Given the description of an element on the screen output the (x, y) to click on. 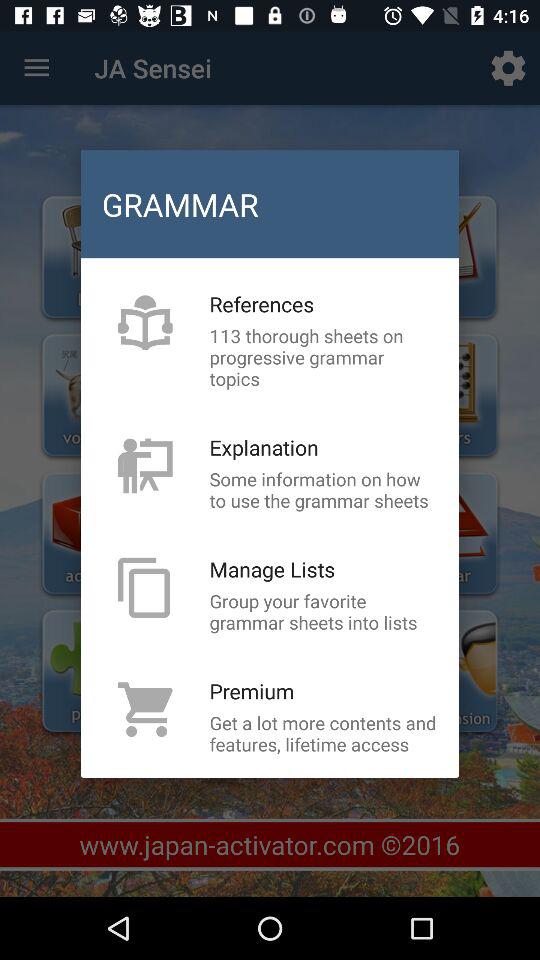
flip until explanation (263, 447)
